Given the description of an element on the screen output the (x, y) to click on. 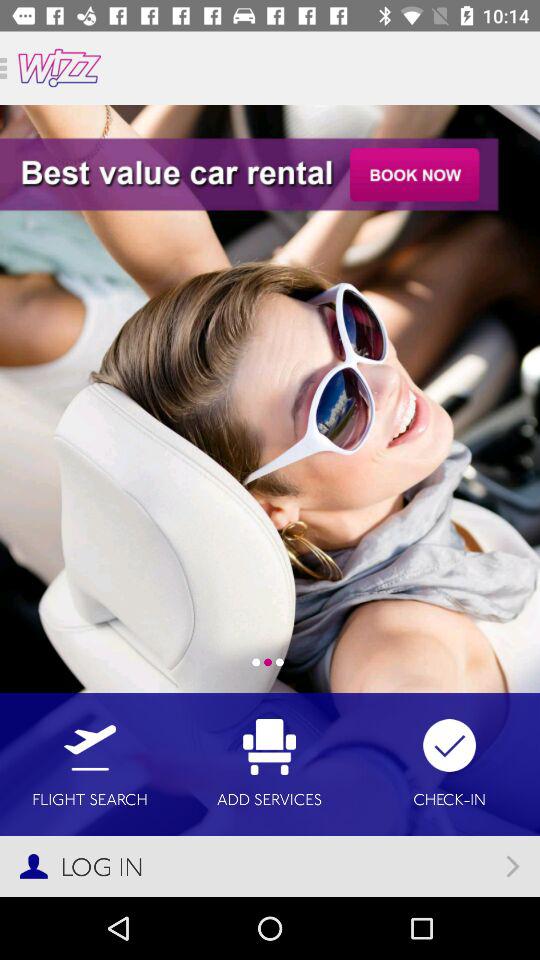
swipe to the check-in (449, 764)
